Given the description of an element on the screen output the (x, y) to click on. 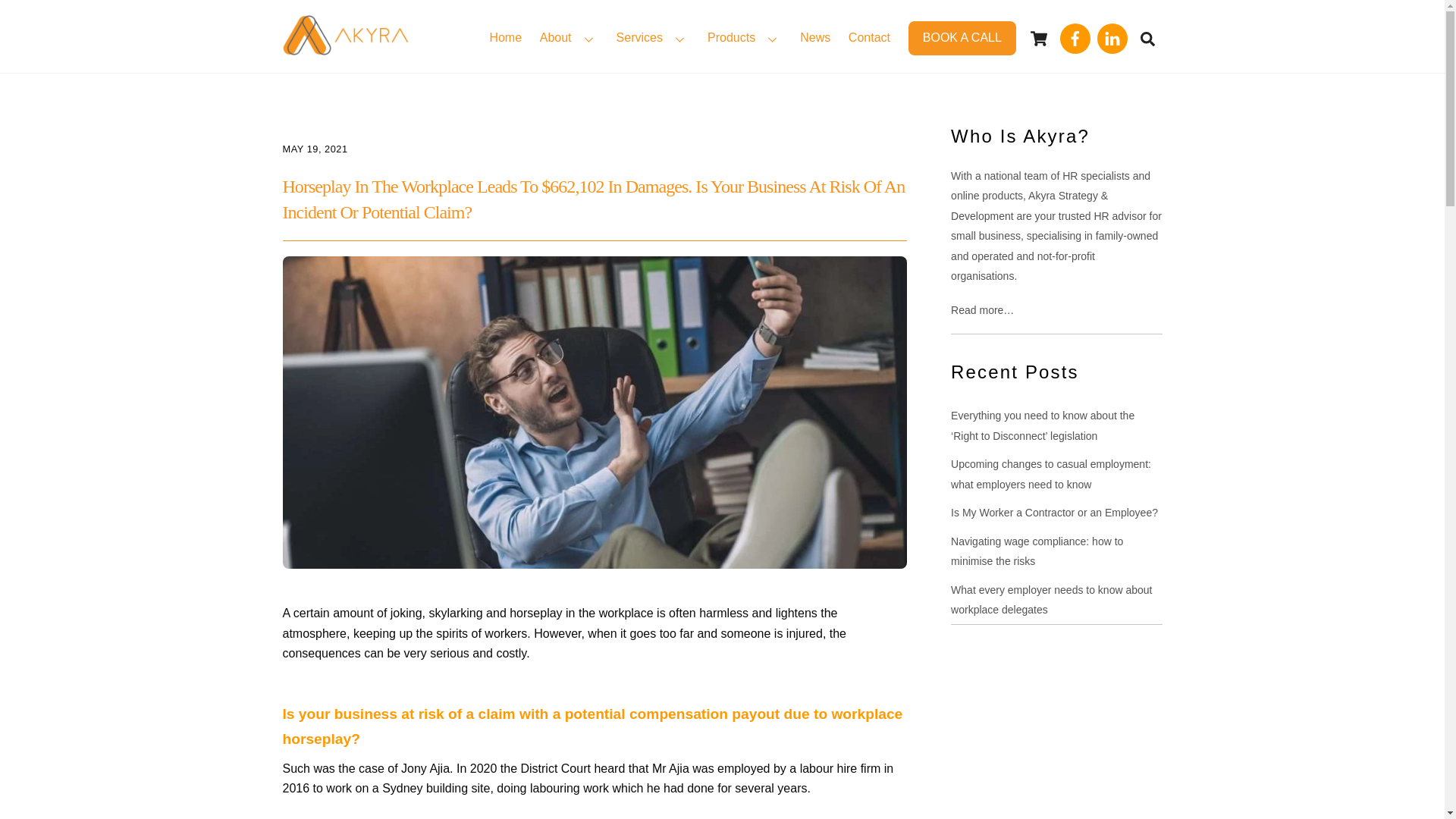
Products (744, 38)
Home (505, 38)
Cart (1038, 38)
Search (1146, 37)
Akyra (344, 47)
About (568, 38)
Services (652, 38)
